Given the description of an element on the screen output the (x, y) to click on. 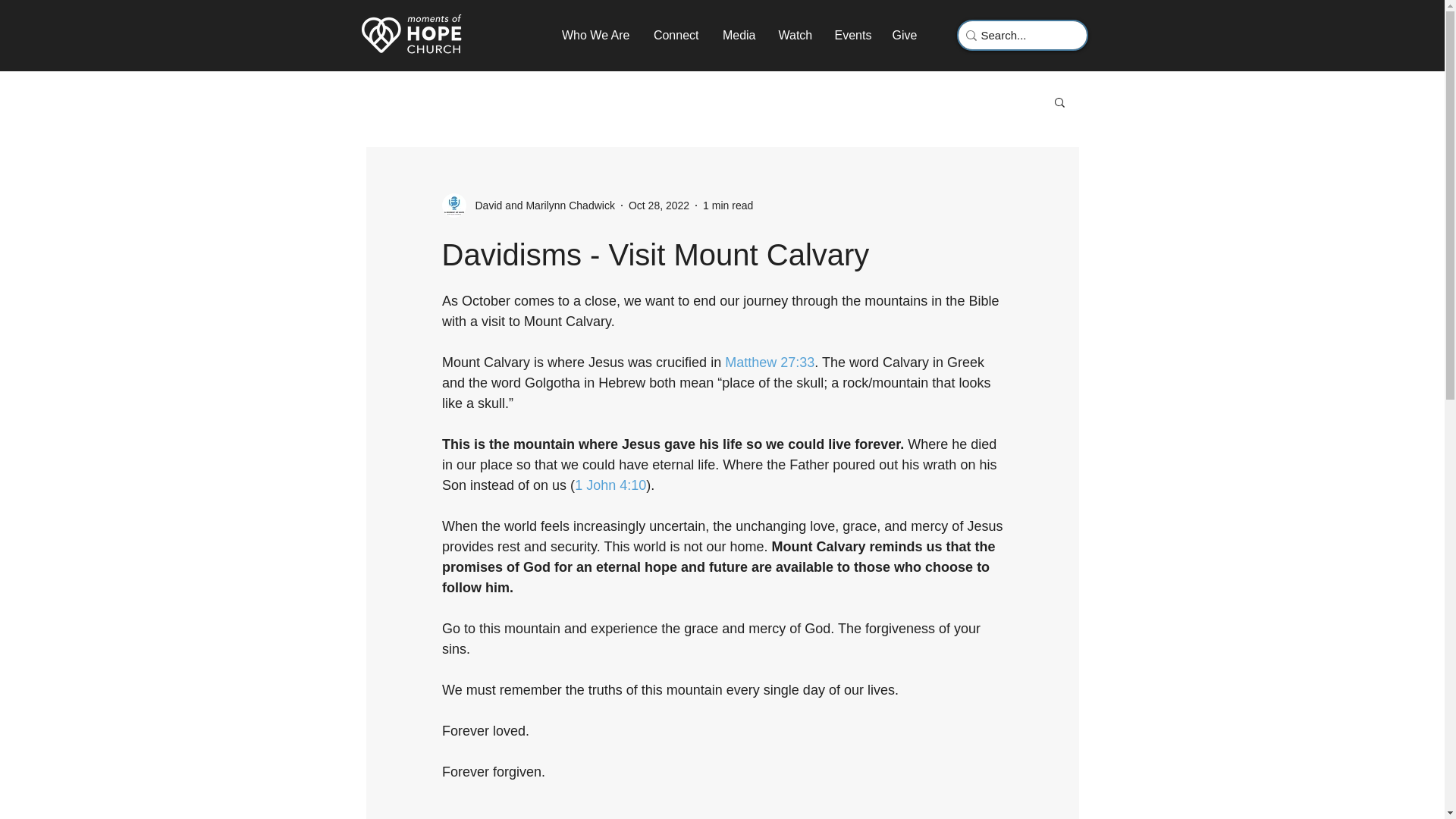
David and Marilynn Chadwick (539, 204)
1 min read (727, 204)
Oct 28, 2022 (658, 204)
1 John 4:10 (610, 485)
Matthew 27:33 (769, 362)
